Given the description of an element on the screen output the (x, y) to click on. 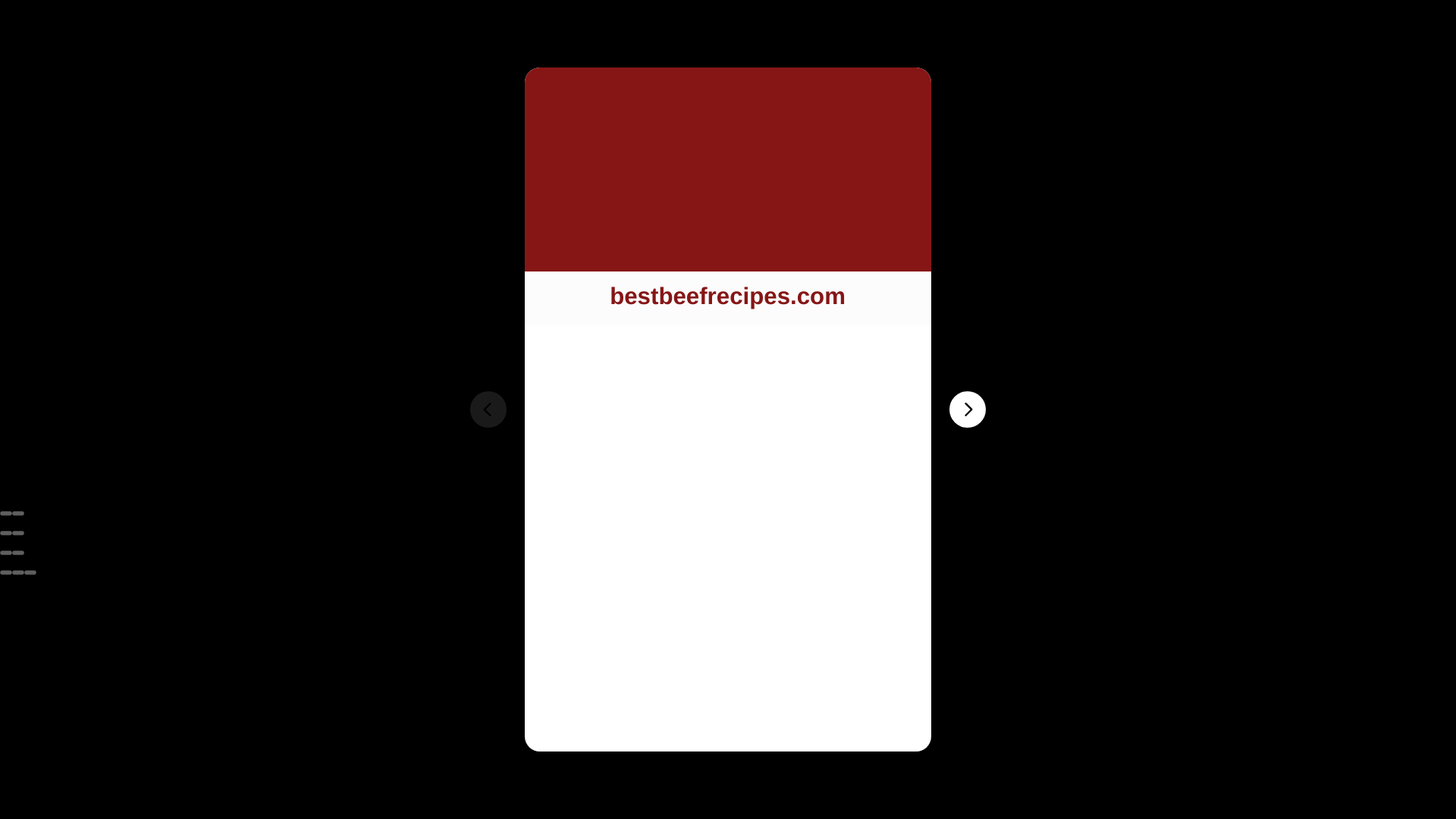
bestbeefrecipes.com (726, 297)
